Given the description of an element on the screen output the (x, y) to click on. 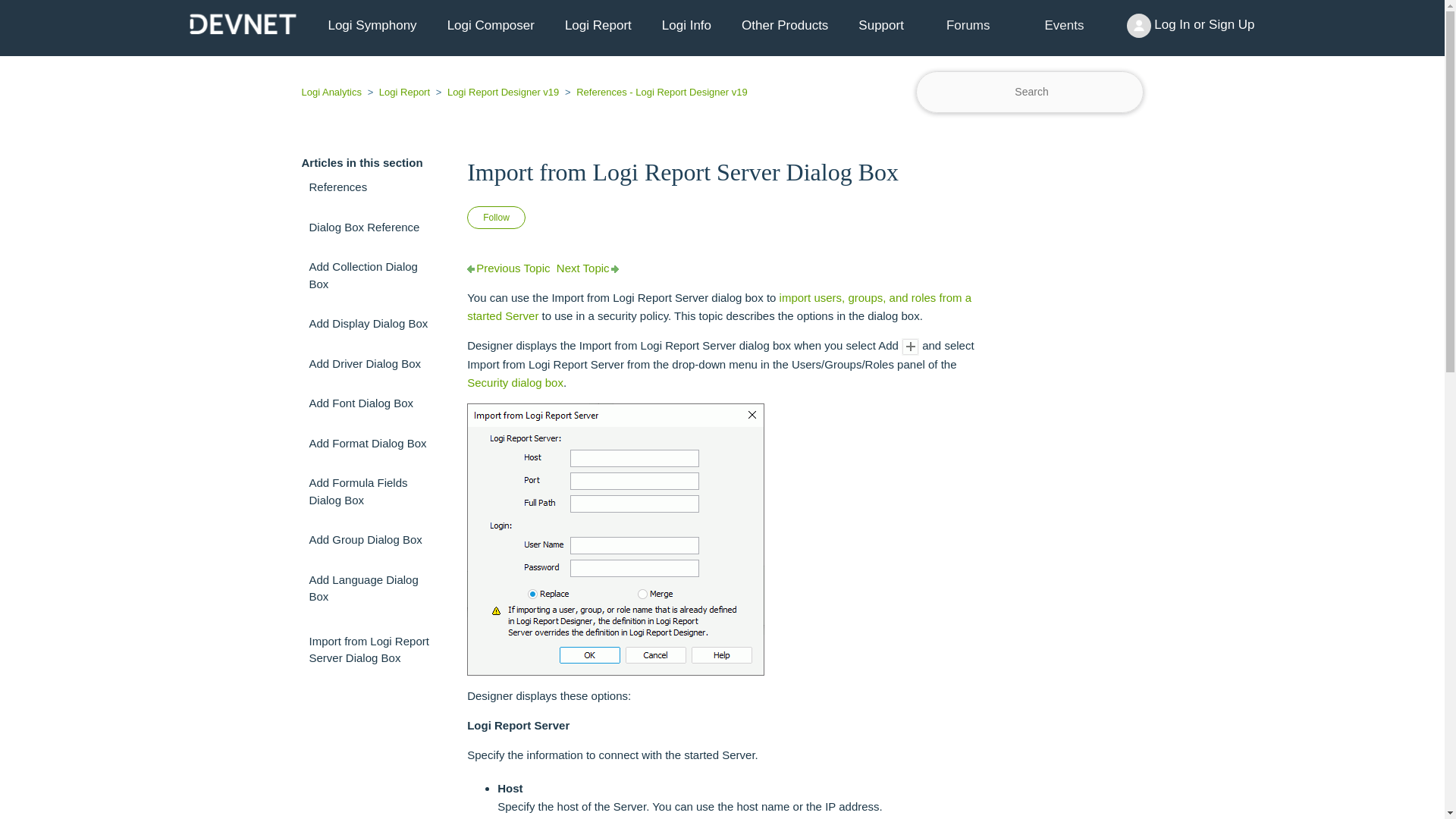
Events (1064, 25)
Import from Logi Report Server Dialog Box (721, 171)
Other Products (784, 25)
Logi Composer (491, 25)
Logi Info (686, 25)
Events (1064, 24)
References - Logi Report Designer v19 (655, 91)
Import from Logi Report Server Dialog Box (373, 649)
Forums (968, 24)
Logi Symphony (371, 25)
